Given the description of an element on the screen output the (x, y) to click on. 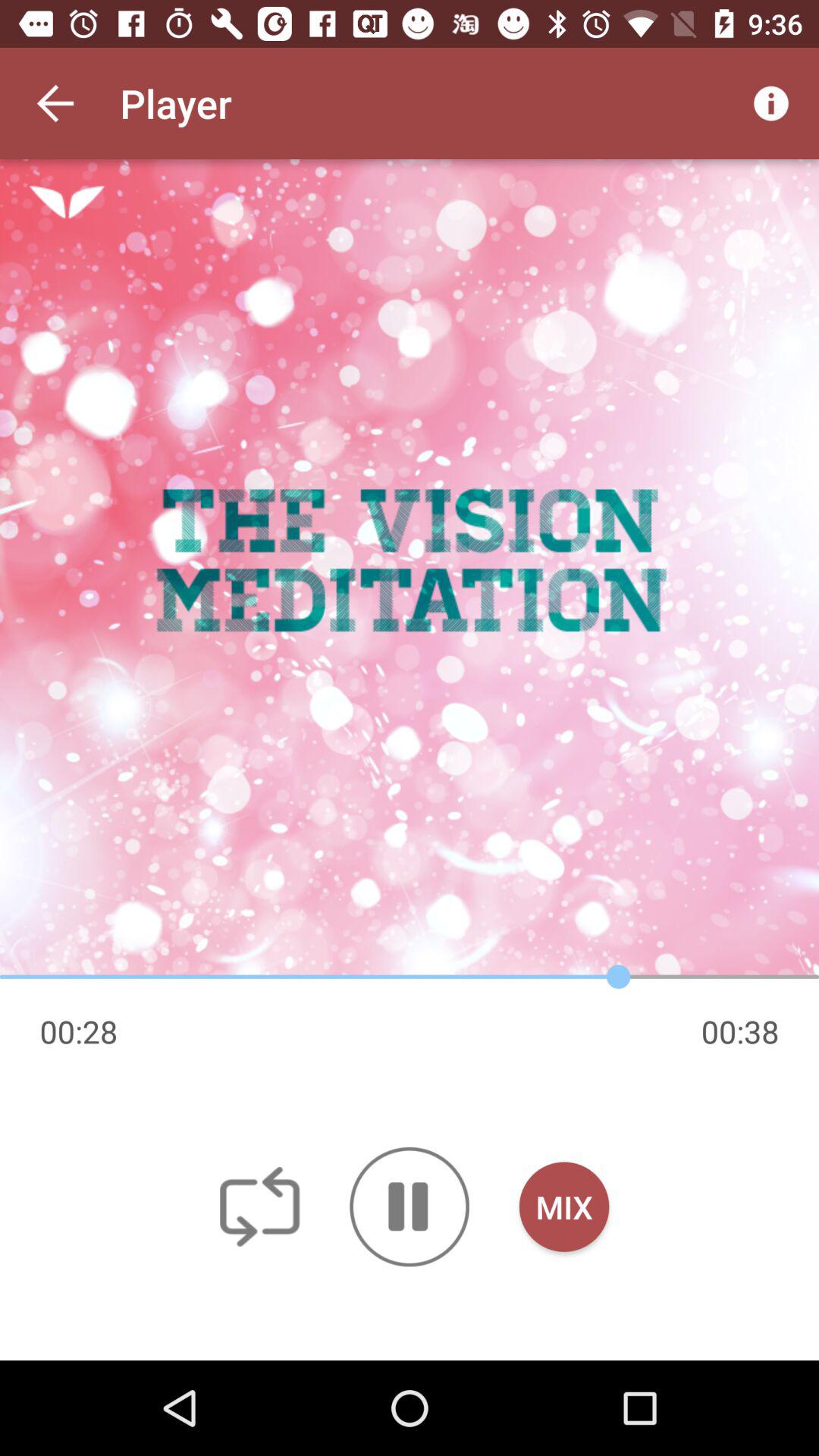
jump until off (259, 1206)
